Given the description of an element on the screen output the (x, y) to click on. 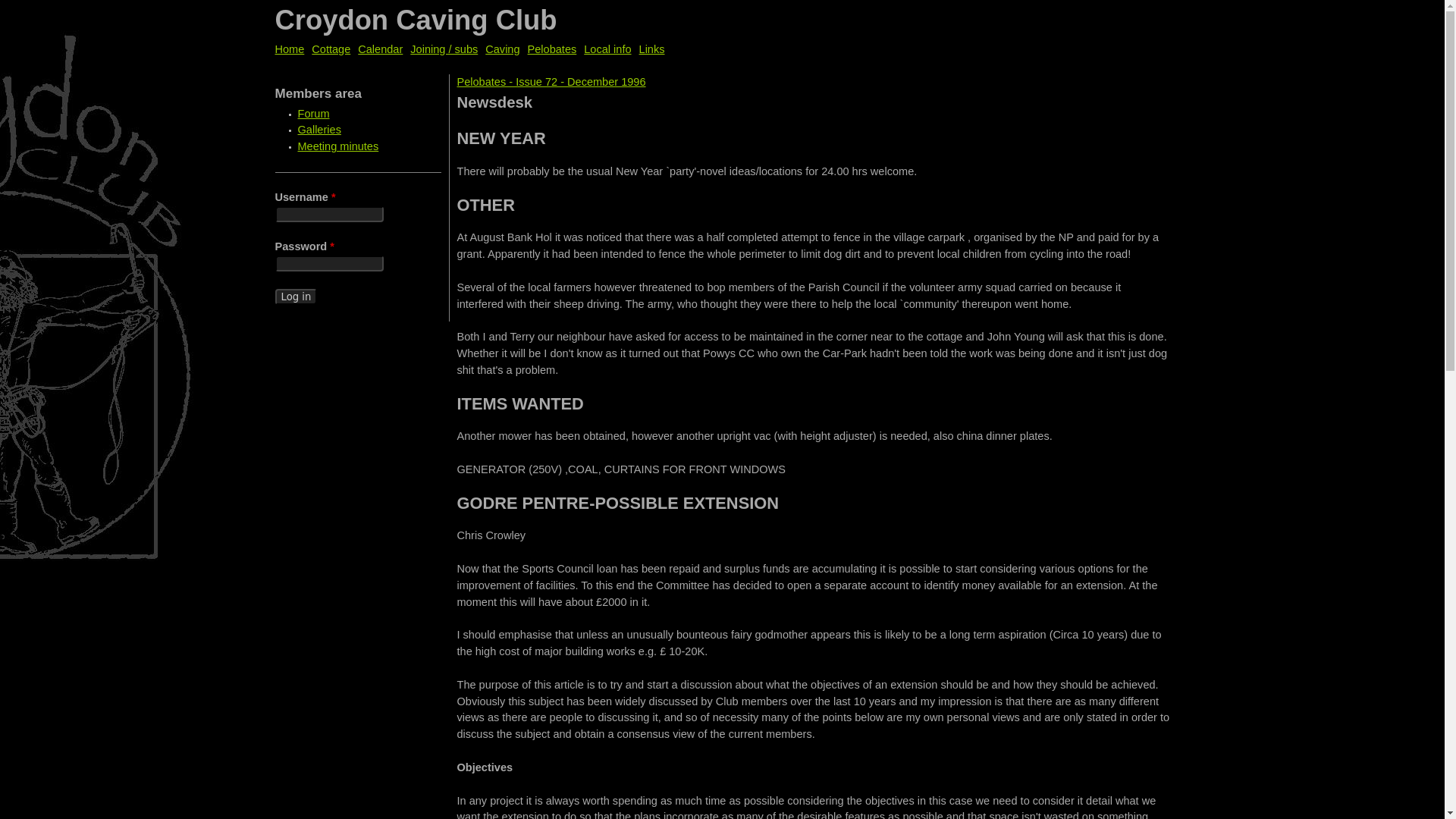
Meeting minutes (337, 146)
Home (289, 49)
Home (415, 20)
Log in (296, 296)
Calendar (380, 49)
Pubs, caves, walks, climbs (606, 49)
Members-only forum (313, 113)
Pelobates (551, 49)
Members-only galleries (318, 129)
Forum (313, 113)
Pelobates - Issue 72 - December 1996 (551, 81)
Cottage (330, 49)
Caving (501, 49)
Joining CCC, membership fees (443, 49)
Croydon Caving Club (415, 20)
